Given the description of an element on the screen output the (x, y) to click on. 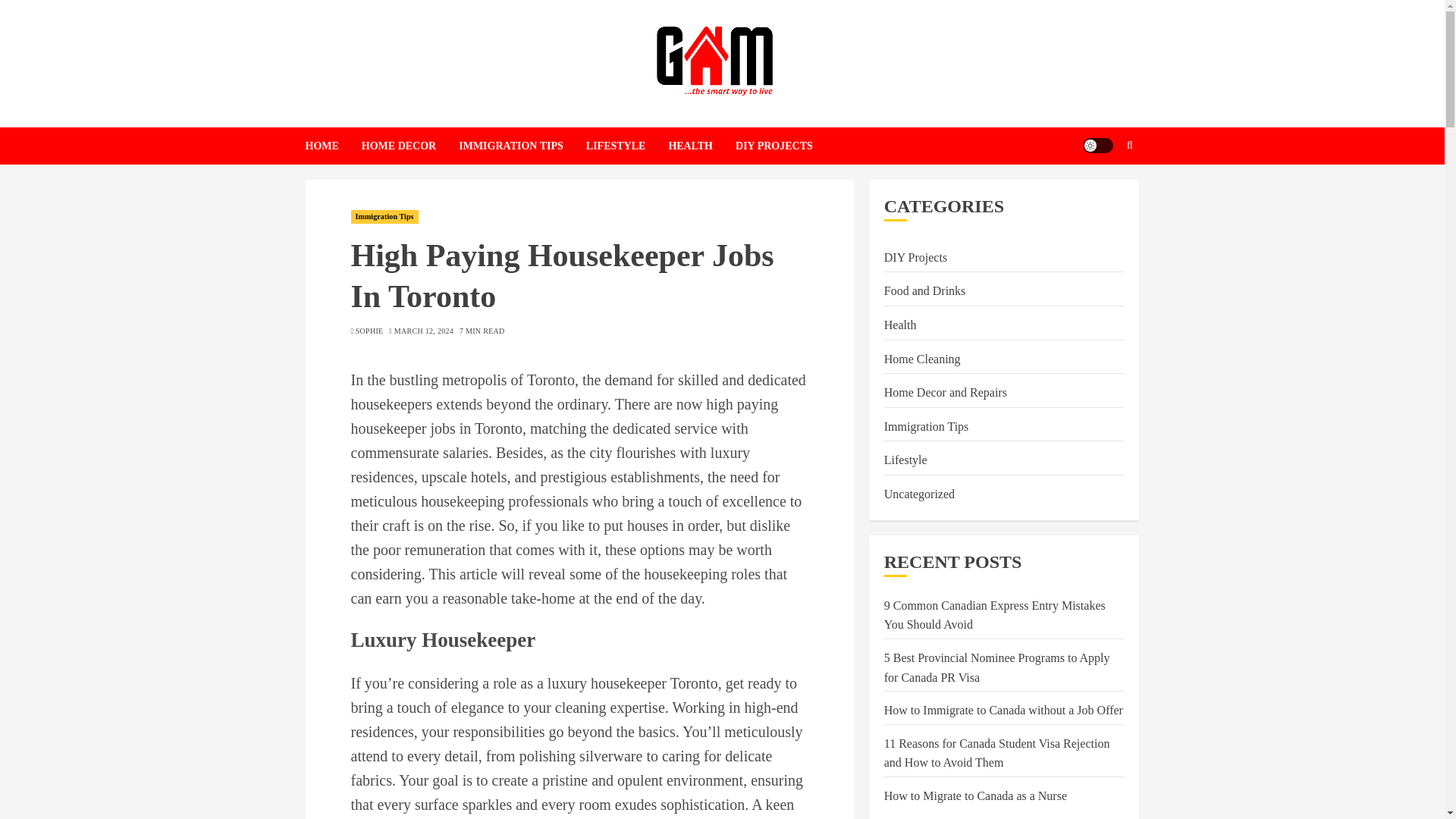
LIFESTYLE (627, 145)
Immigration Tips (926, 426)
DIY Projects (915, 258)
DIY PROJECTS (773, 145)
HEALTH (701, 145)
Immigration Tips (383, 216)
HOME (332, 145)
Home Decor and Repairs (945, 393)
How to Migrate to Canada as a Nurse (975, 796)
SOPHIE (369, 330)
How to Immigrate to Canada without a Job Offer (1002, 710)
HOME DECOR (409, 145)
MARCH 12, 2024 (423, 330)
